Given the description of an element on the screen output the (x, y) to click on. 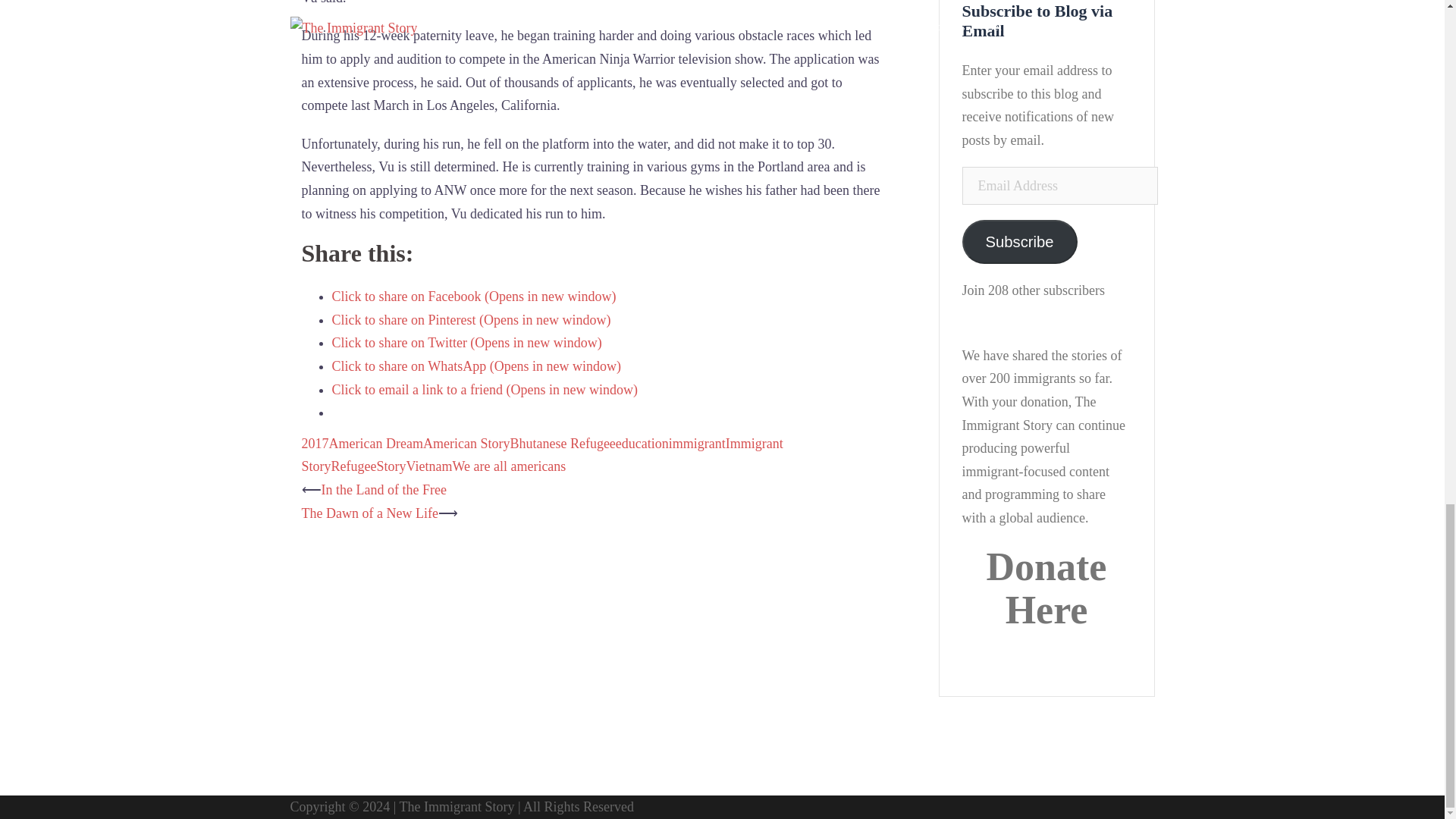
Click to email a link to a friend (484, 389)
Click to share on Facebook (473, 296)
Click to share on Twitter (466, 342)
Click to share on Pinterest (471, 319)
Click to share on WhatsApp (476, 365)
